Given the description of an element on the screen output the (x, y) to click on. 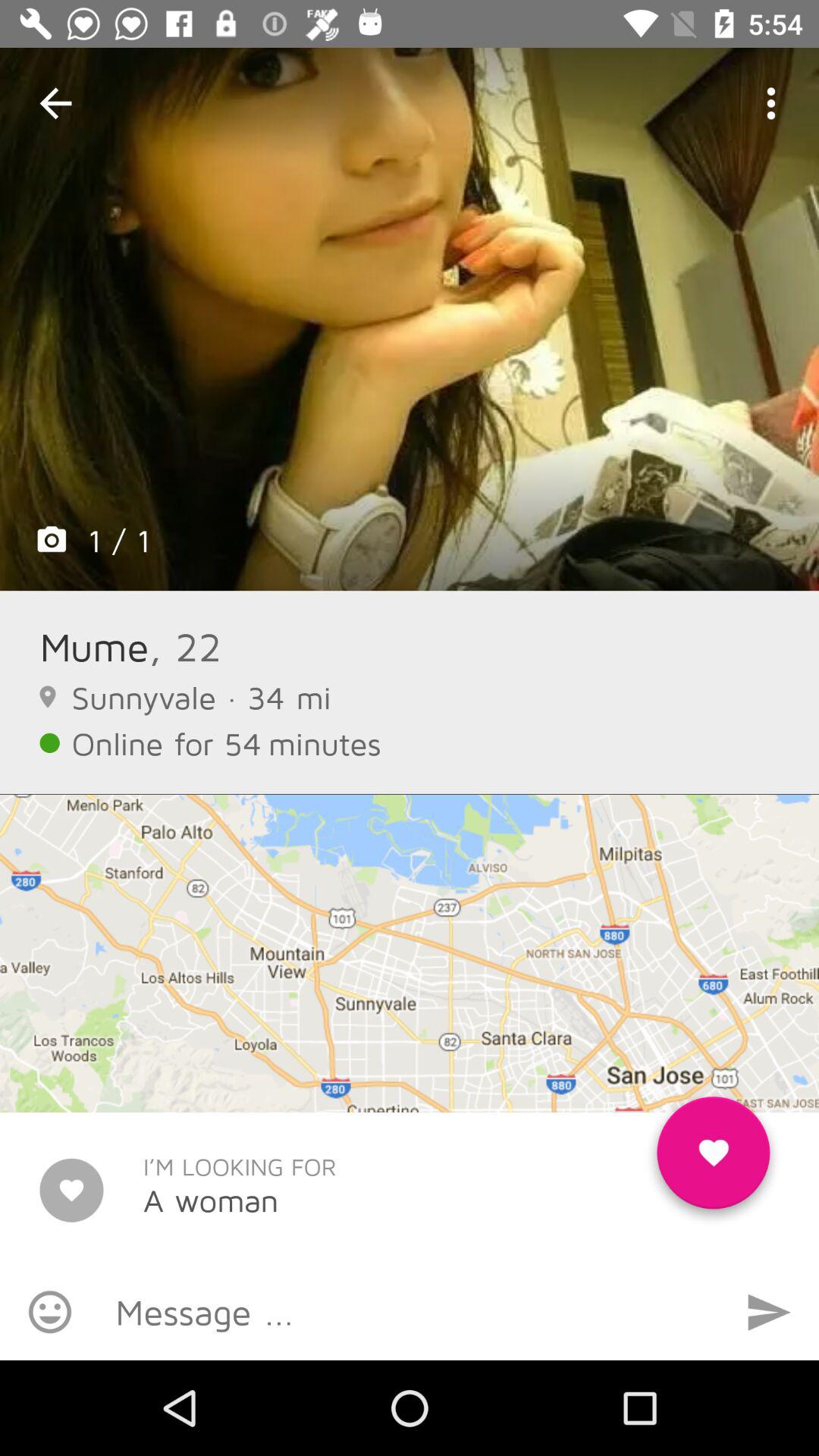
i can type in a message to mume here (409, 1311)
